Given the description of an element on the screen output the (x, y) to click on. 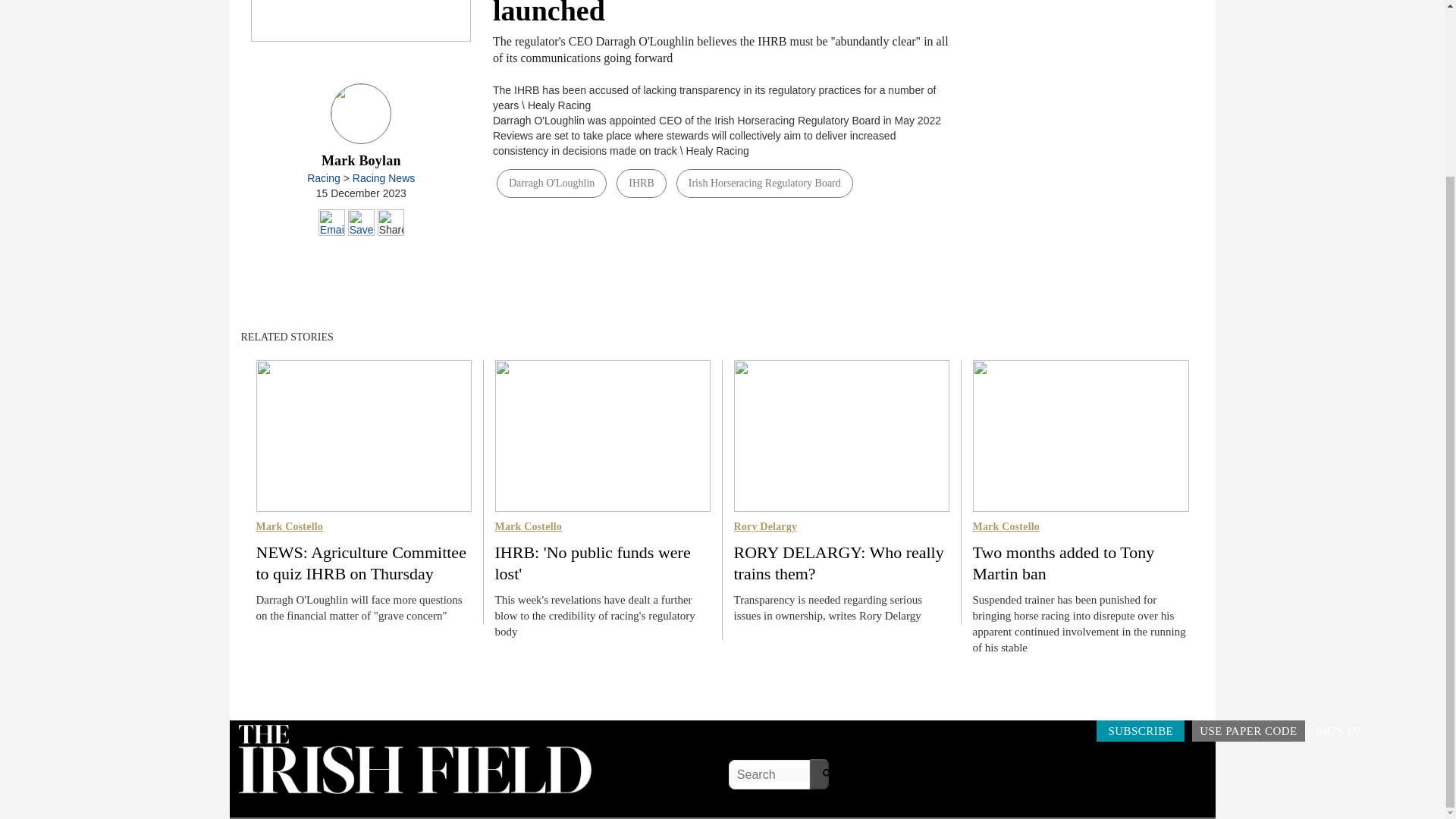
search (827, 773)
Email the writer (331, 222)
Save this article (360, 222)
Share this article (390, 222)
